Given the description of an element on the screen output the (x, y) to click on. 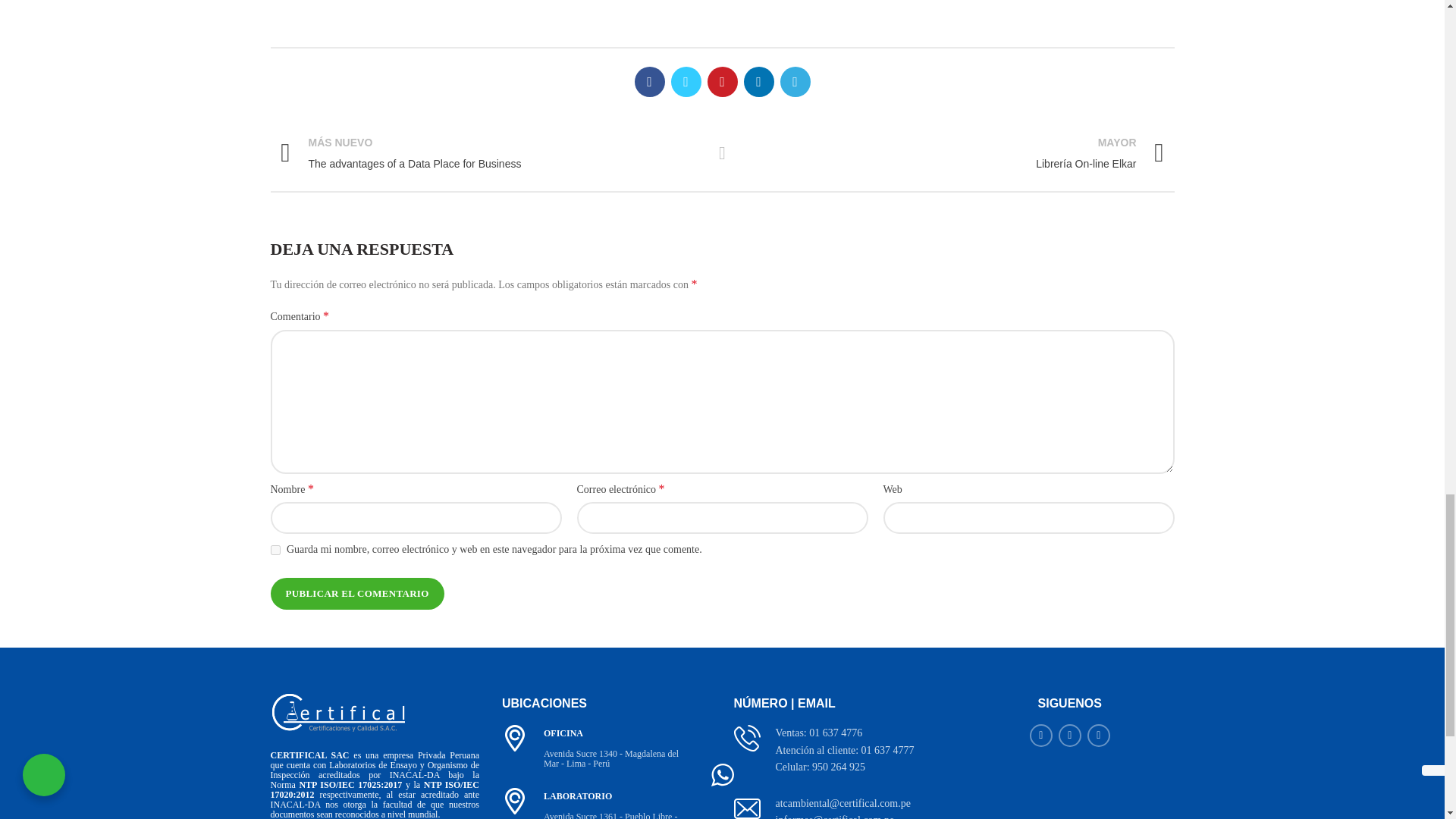
logocertifical (337, 712)
MAIL (746, 807)
yes (274, 550)
location (515, 737)
Publicar el comentario (356, 593)
location (515, 800)
PHONE (746, 737)
